Given the description of an element on the screen output the (x, y) to click on. 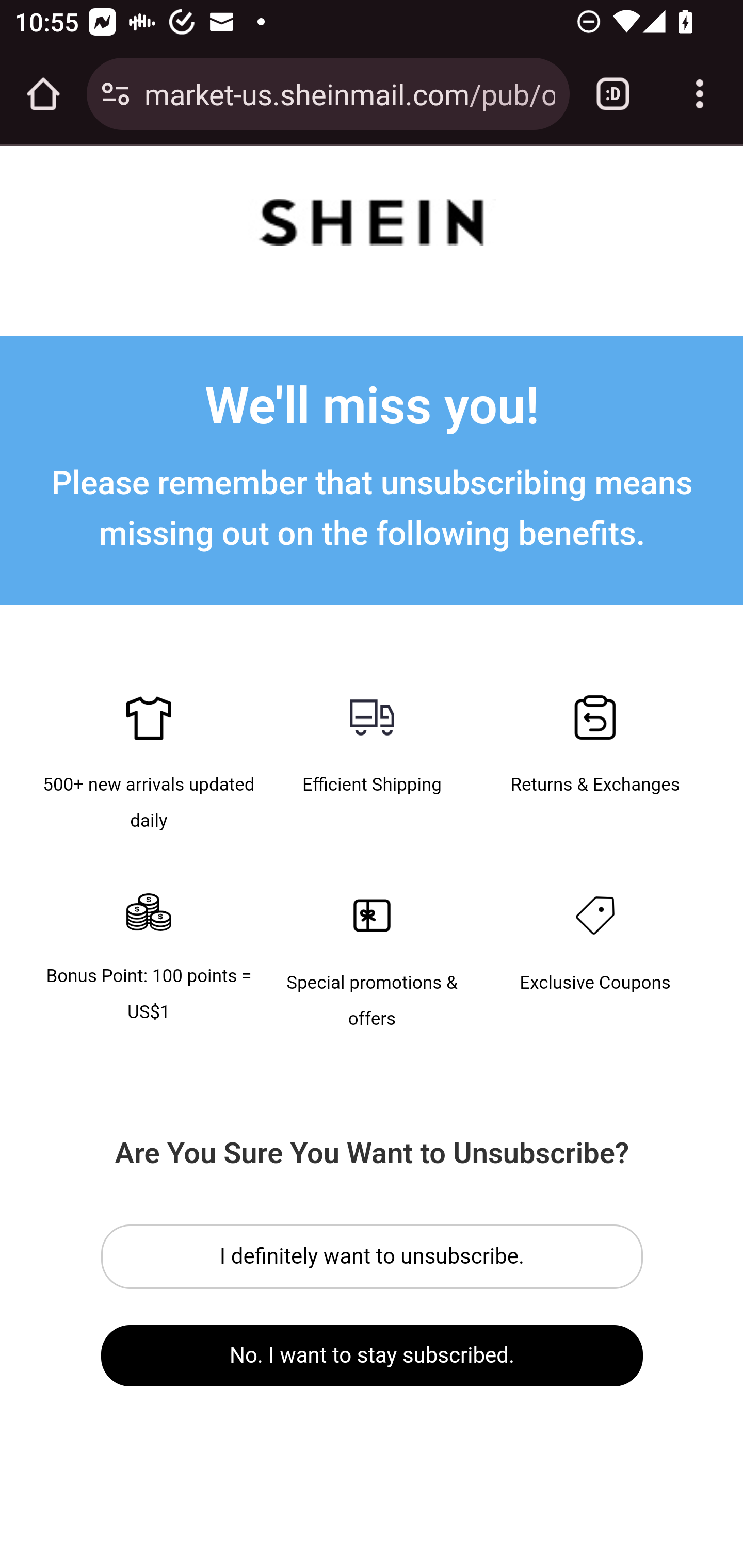
Open the home page (43, 93)
Connection is secure (115, 93)
Switch or close tabs (612, 93)
Customize and control Google Chrome (699, 93)
shein (371, 225)
I definitely want to unsubscribe. (372, 1256)
No. I want to stay subscribed. (372, 1355)
